Given the description of an element on the screen output the (x, y) to click on. 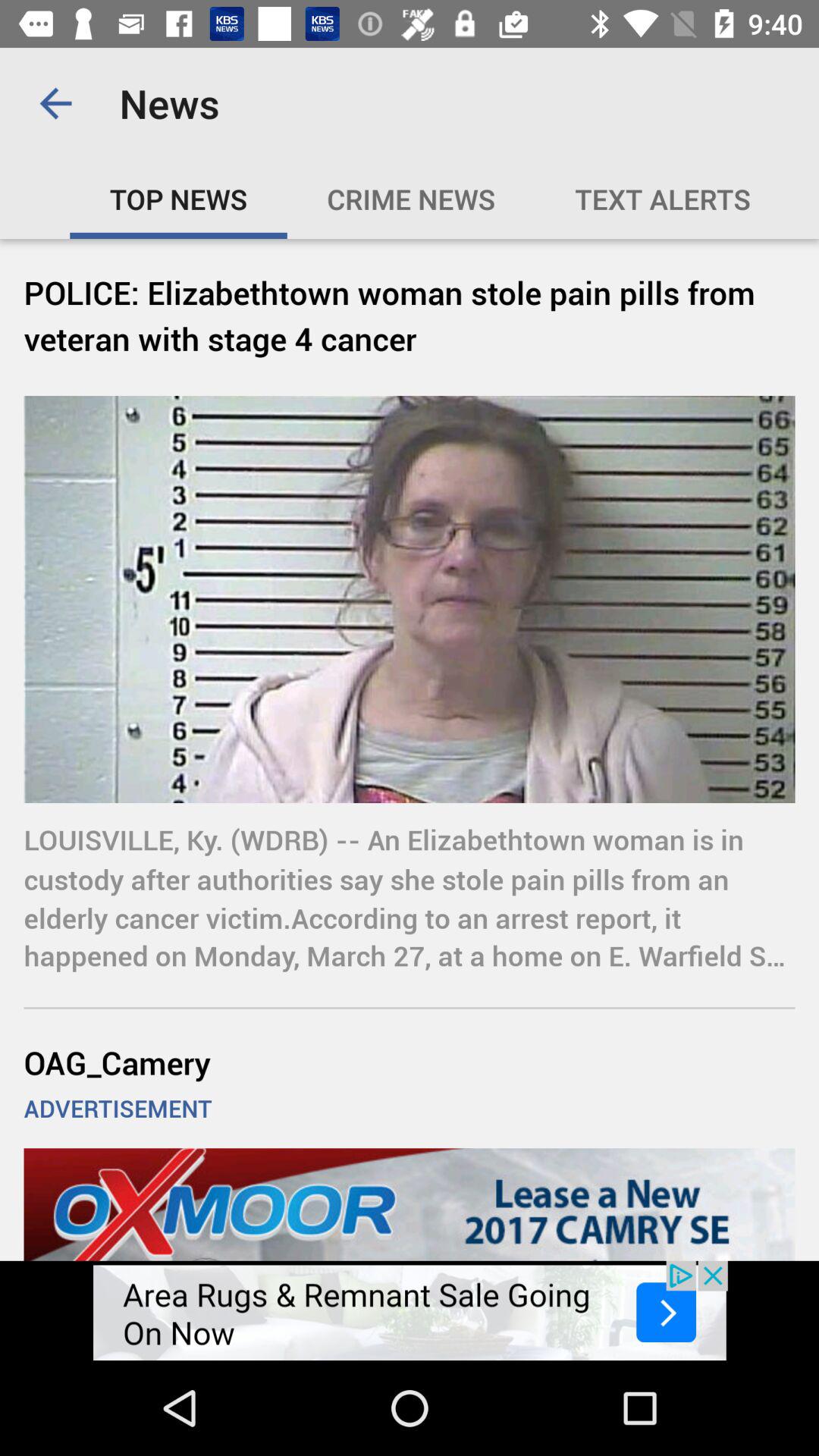
open icon above the top news icon (55, 103)
